Given the description of an element on the screen output the (x, y) to click on. 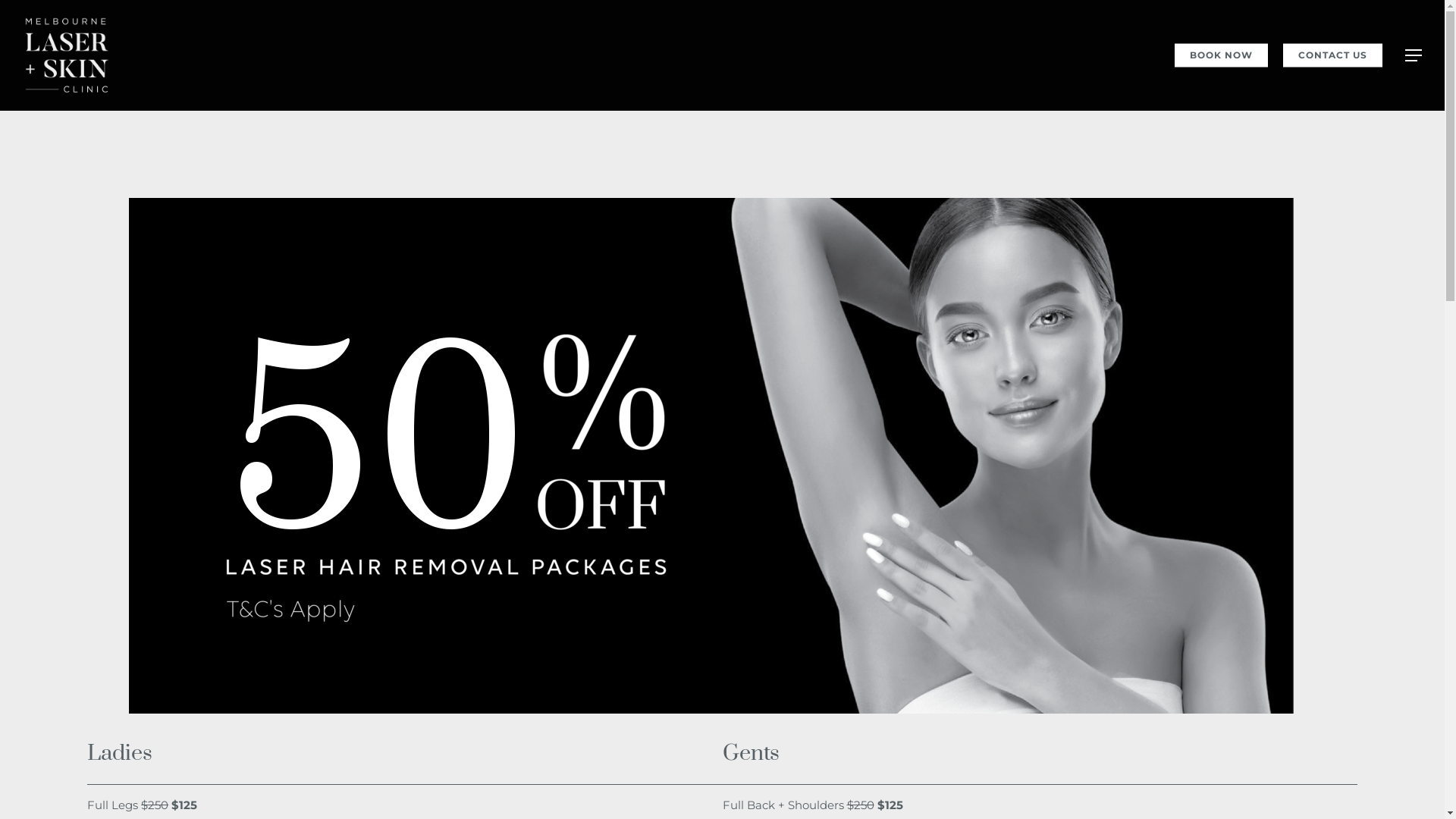
BOOK NOW Element type: text (1220, 55)
CONTACT US Element type: text (1332, 55)
